Given the description of an element on the screen output the (x, y) to click on. 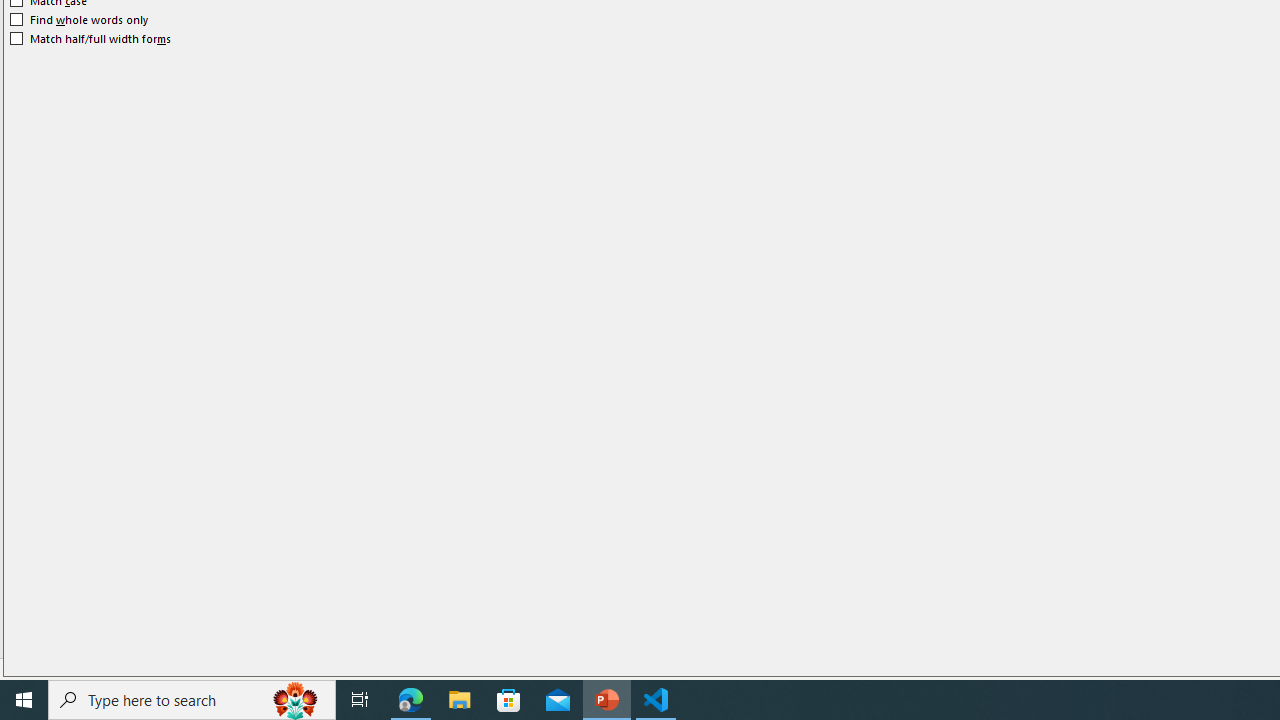
Match half/full width forms (91, 38)
Find whole words only (79, 20)
